Given the description of an element on the screen output the (x, y) to click on. 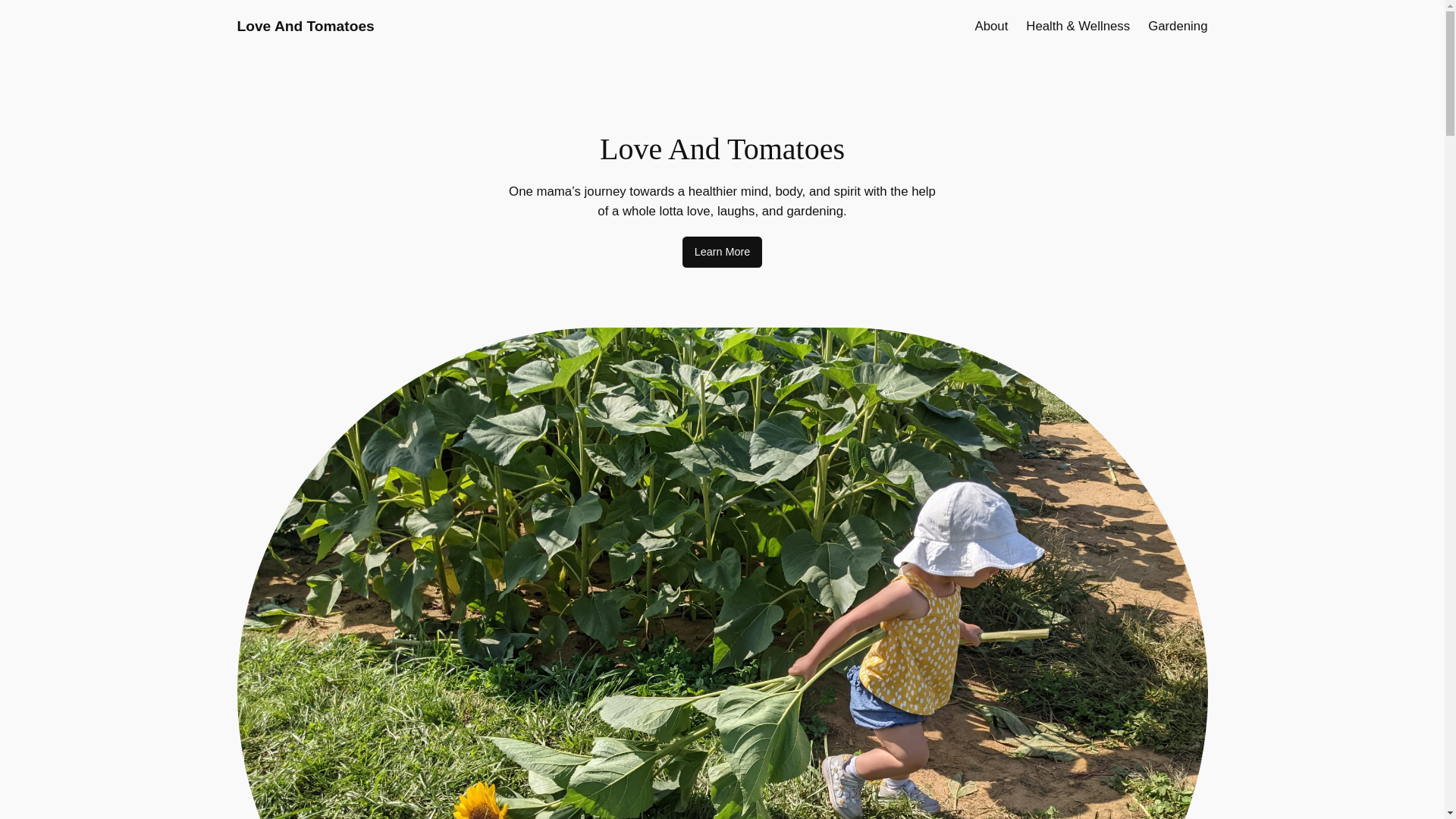
Learn More (722, 252)
Love And Tomatoes (304, 26)
About (990, 26)
Gardening (1177, 26)
